Given the description of an element on the screen output the (x, y) to click on. 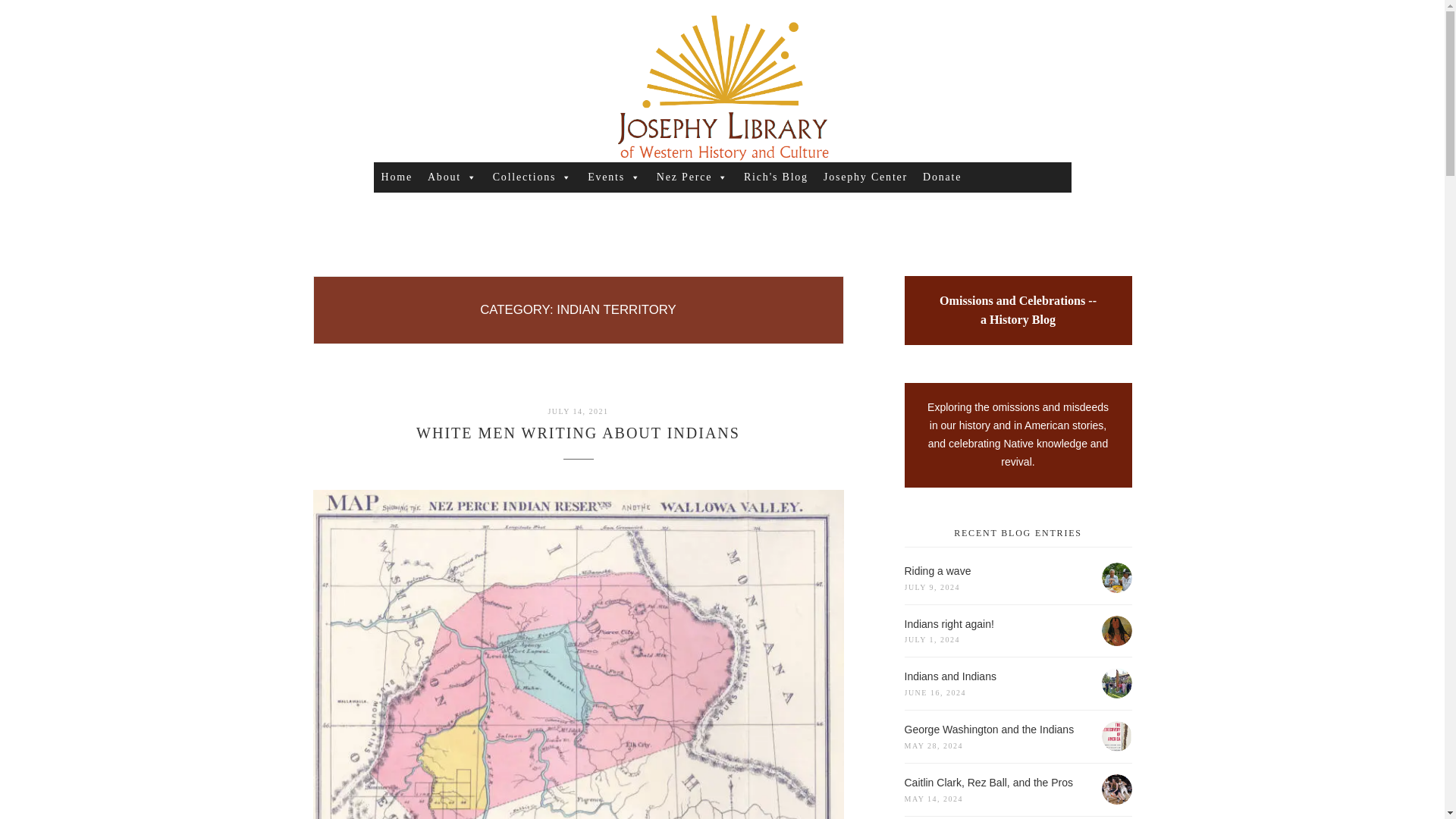
Donate (577, 411)
Events (942, 177)
WHITE MEN WRITING ABOUT INDIANS (614, 177)
About (577, 433)
Collections (452, 177)
Josephy Center (531, 177)
Nez Perce (865, 177)
Home (692, 177)
Rich's Blog (395, 177)
